Given the description of an element on the screen output the (x, y) to click on. 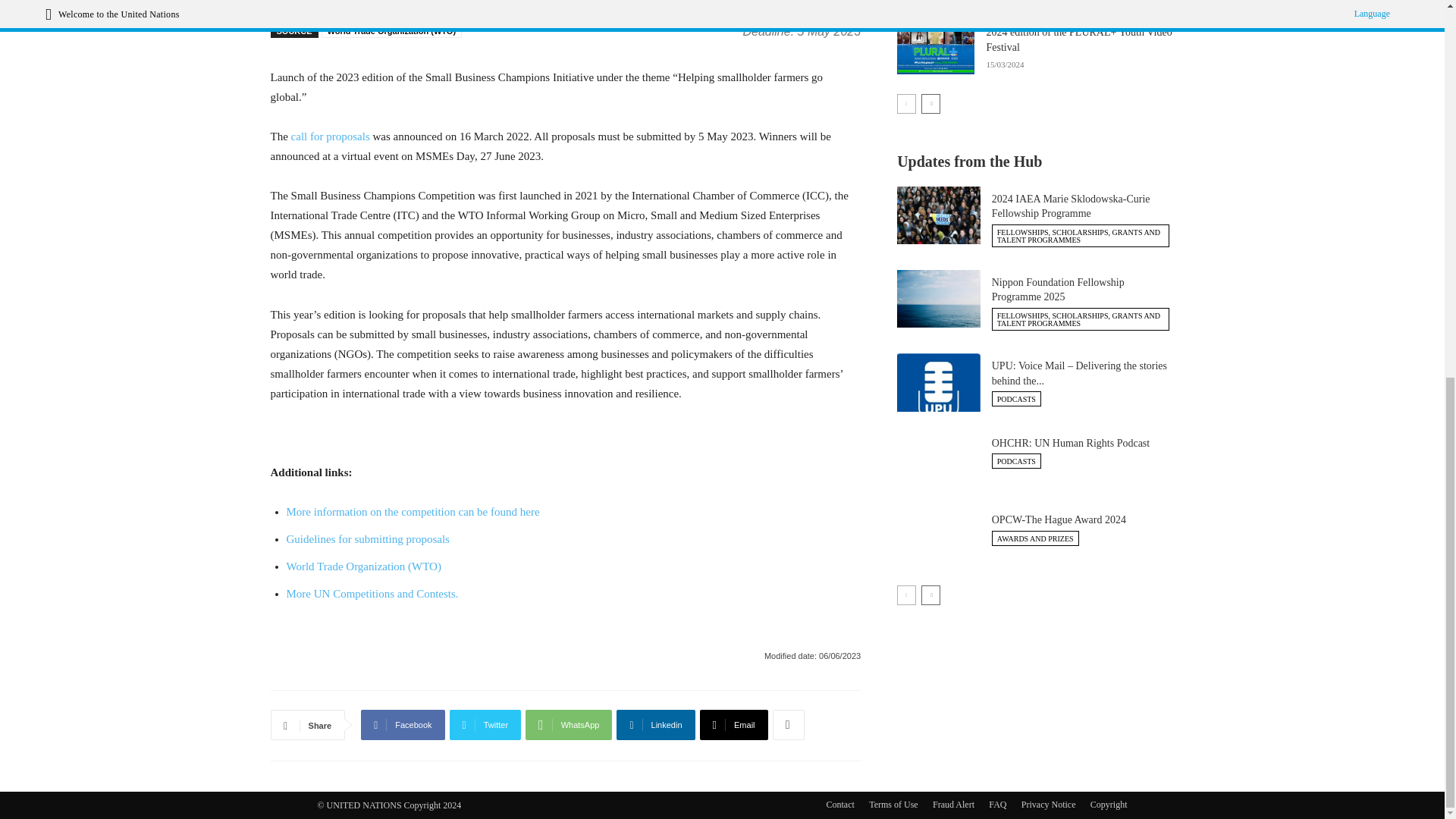
opens in a new window (330, 136)
Facebook (402, 725)
Twitter (485, 725)
Linkedin (654, 725)
WhatsApp (568, 725)
